Given the description of an element on the screen output the (x, y) to click on. 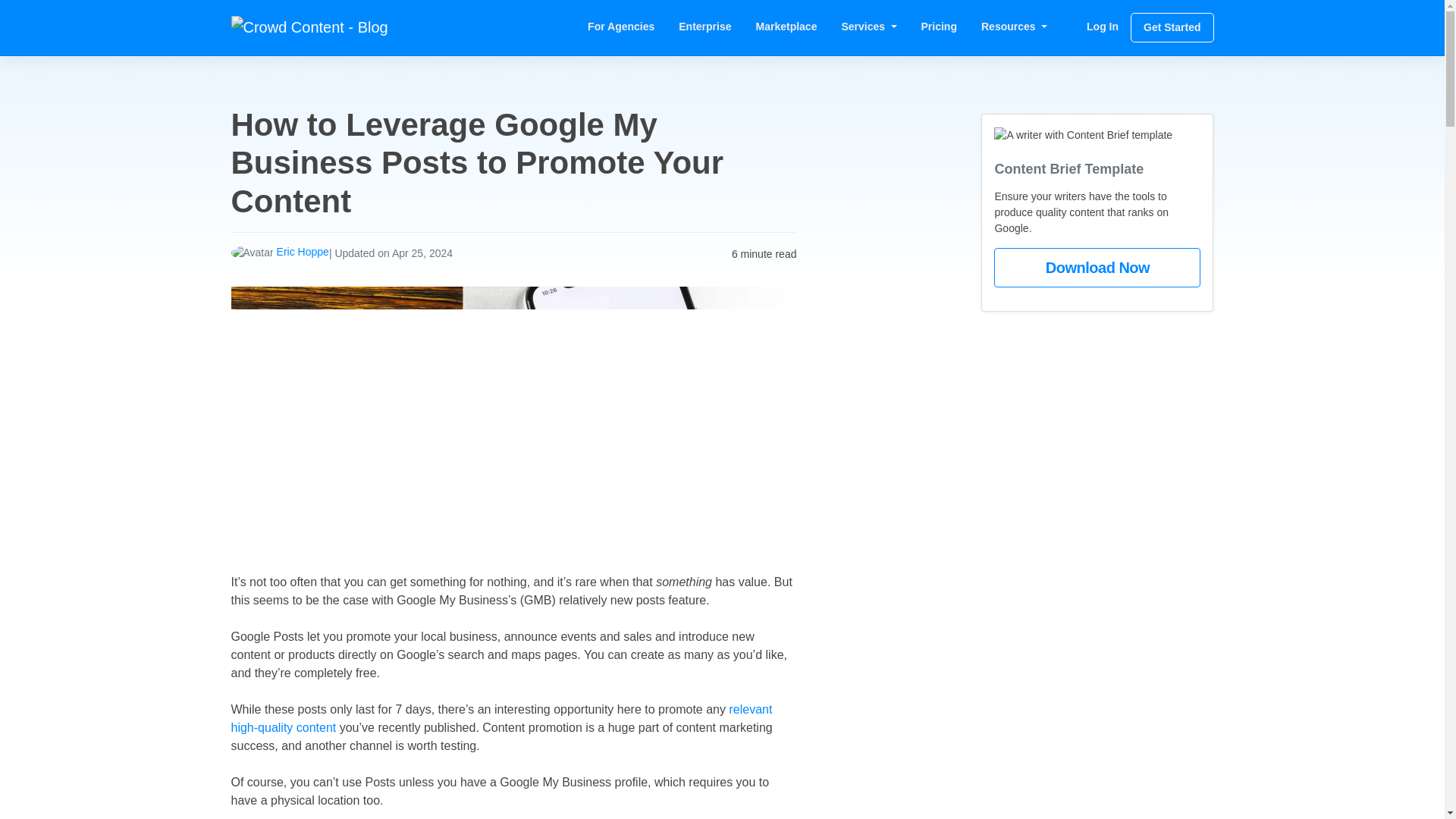
For Agencies (620, 26)
Marketplace (786, 26)
For Agencies (620, 26)
Marketplace (786, 26)
Get Started (1171, 27)
Pricing (938, 26)
Services (868, 26)
relevant high-quality content (500, 717)
Resources (1014, 26)
Resources (1014, 26)
